Given the description of an element on the screen output the (x, y) to click on. 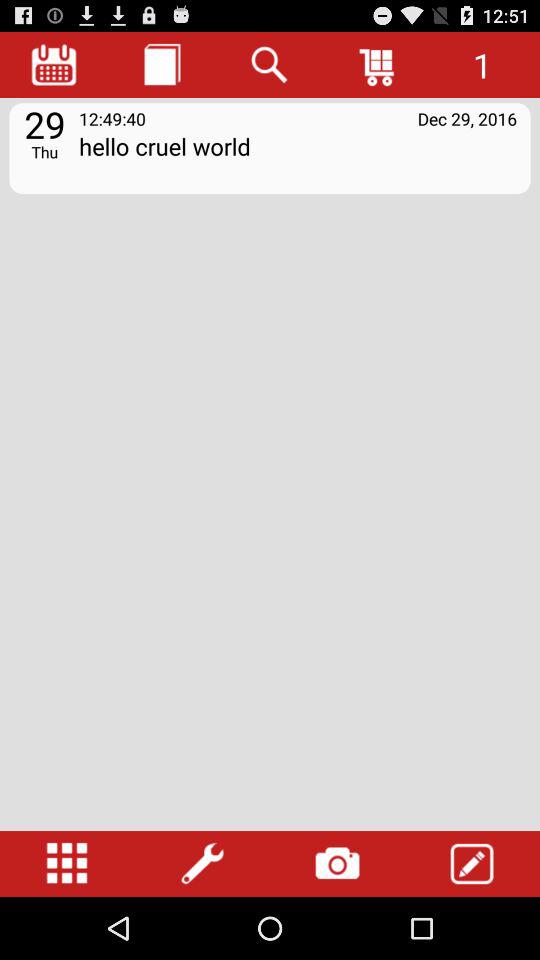
go to calendar (53, 64)
